Given the description of an element on the screen output the (x, y) to click on. 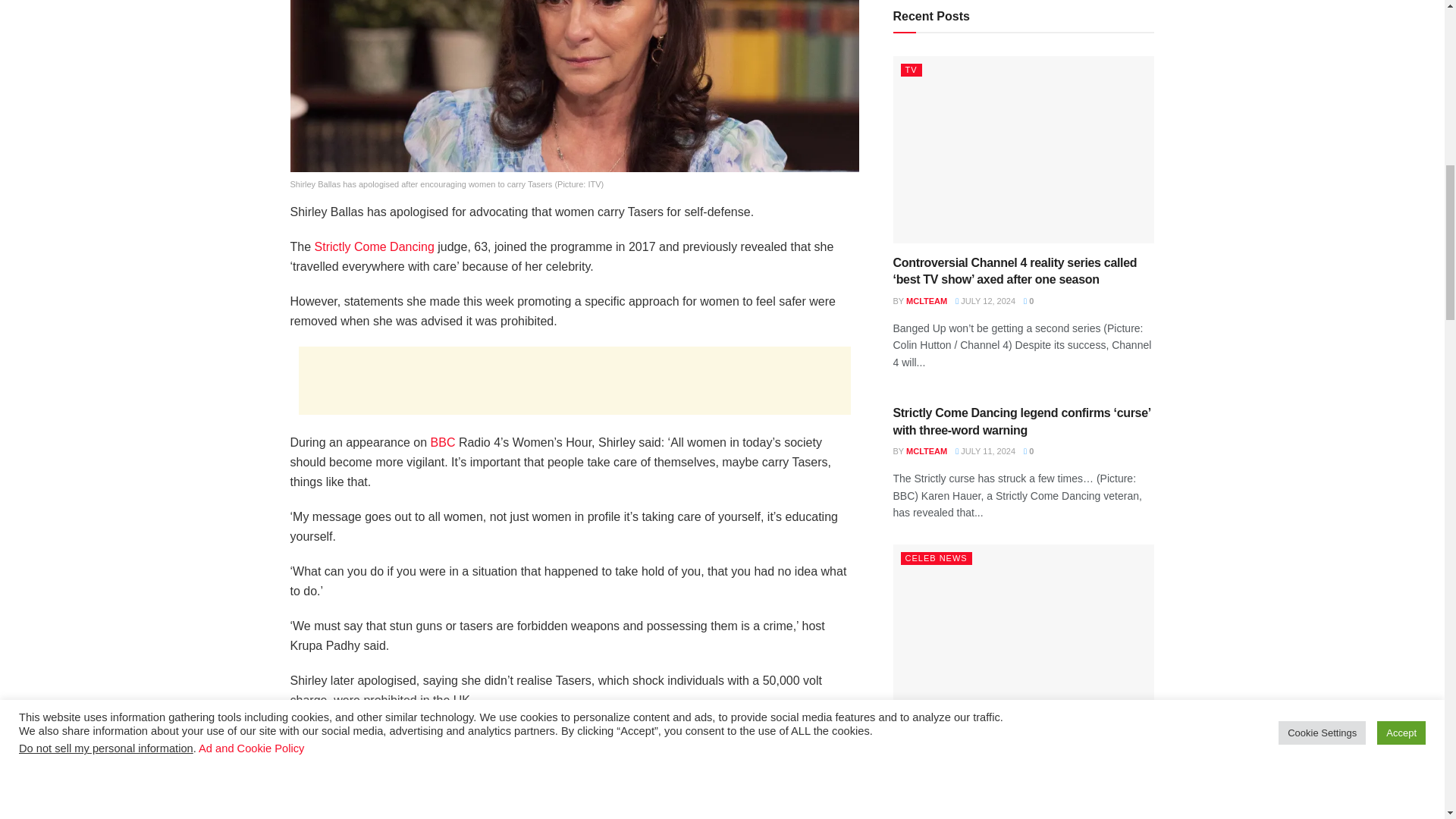
strictly come davcing (373, 246)
Advertisement (574, 380)
